Given the description of an element on the screen output the (x, y) to click on. 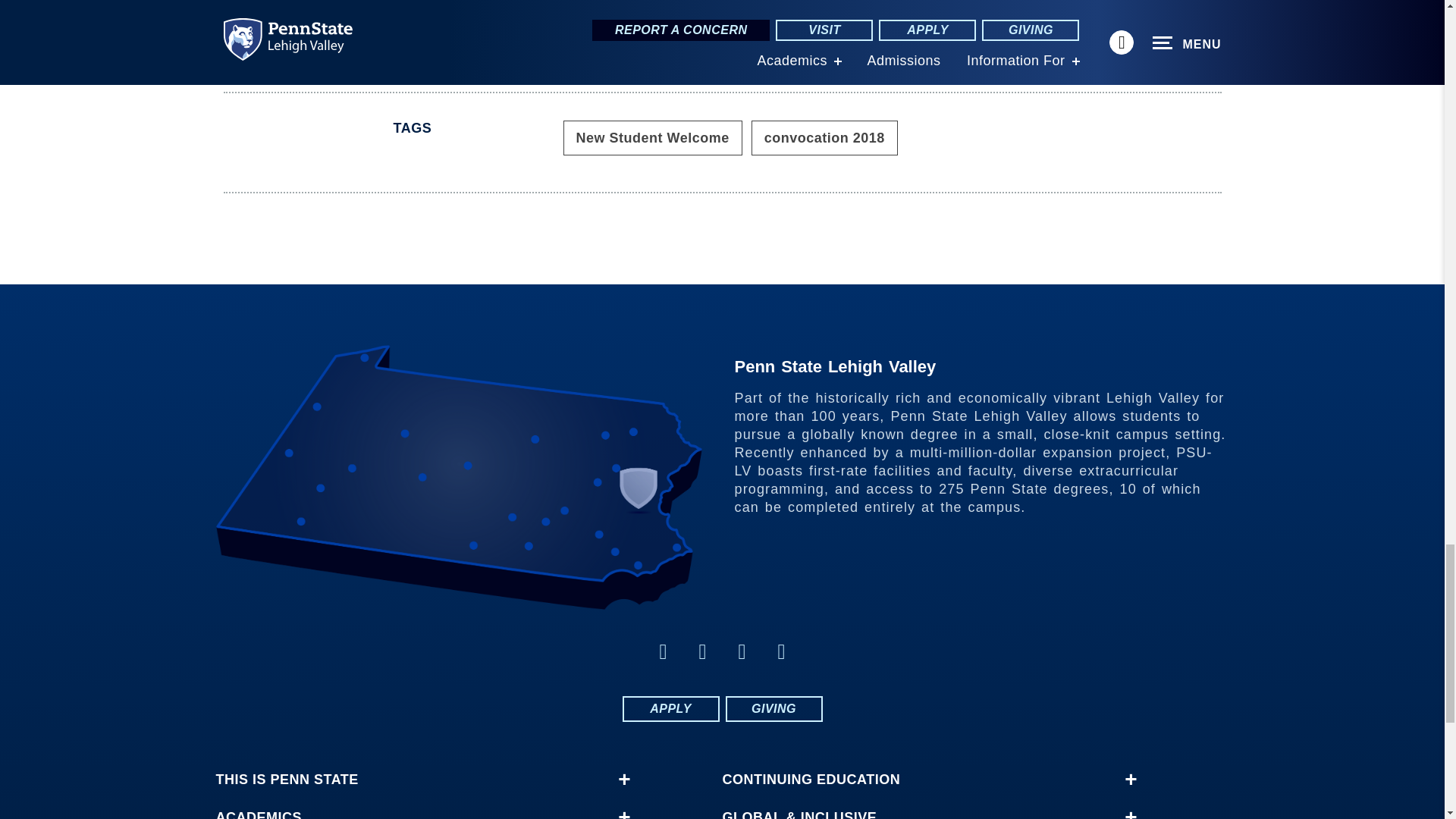
instagram (702, 651)
facebook (662, 651)
youtube (781, 651)
linkedin (741, 651)
Content tagged with New Student Welcome (651, 137)
Content tagged with convocation 2018 (824, 137)
